Given the description of an element on the screen output the (x, y) to click on. 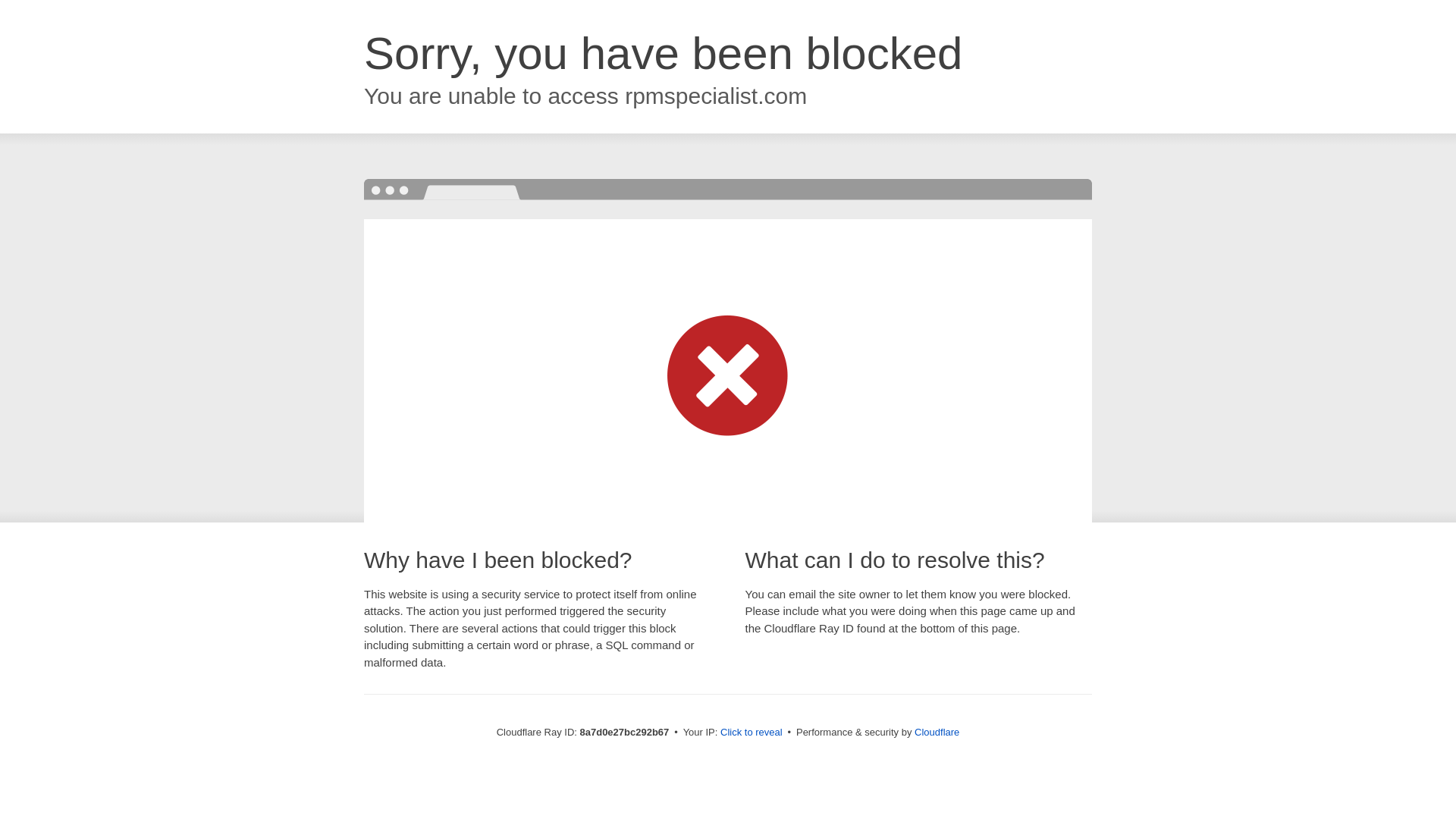
Click to reveal (751, 732)
Cloudflare (936, 731)
